Given the description of an element on the screen output the (x, y) to click on. 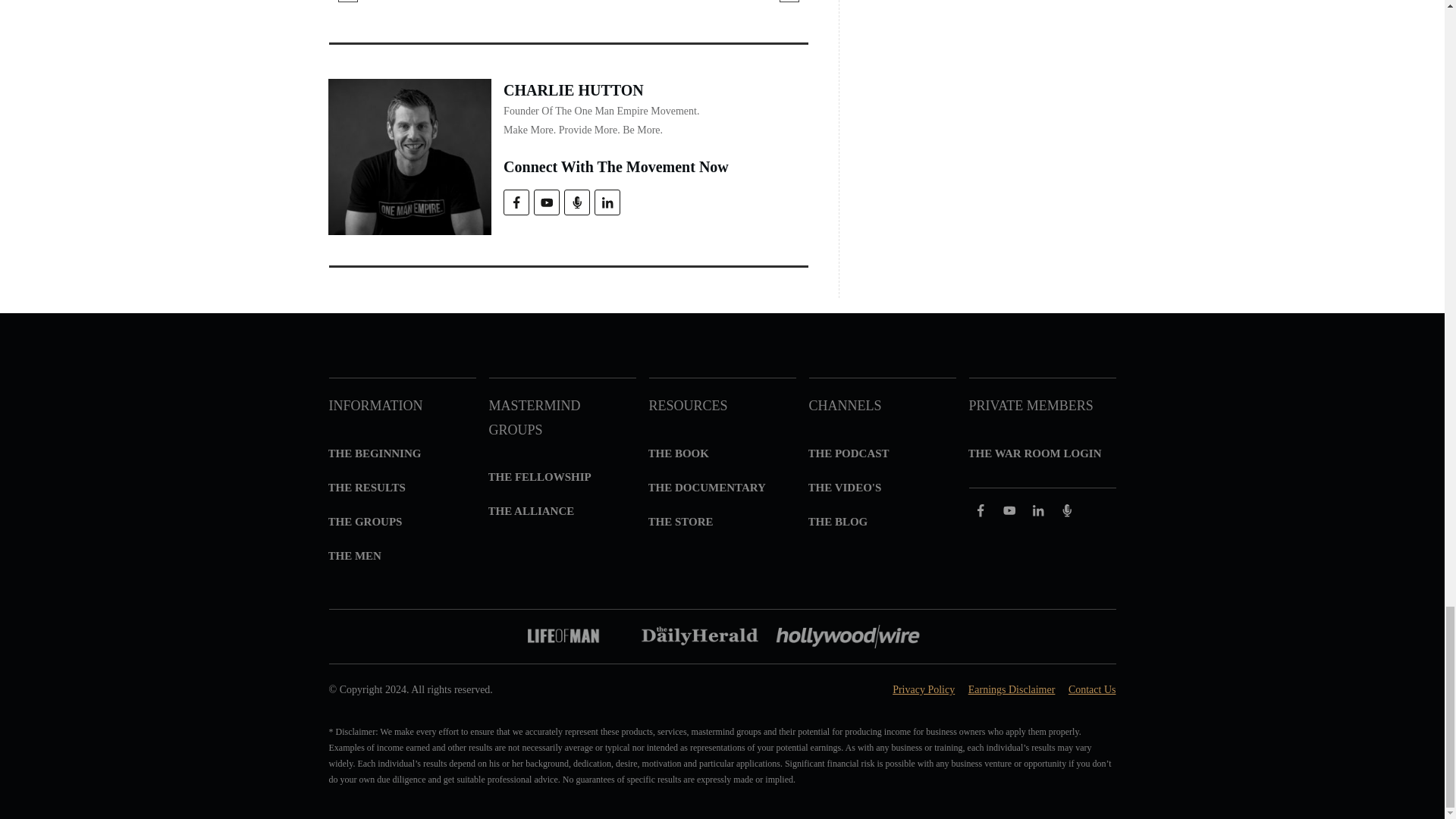
PREVIOUS (389, 5)
THE DOCUMENTARY (706, 486)
THE BOOK (677, 453)
THE PODCAST (848, 453)
NEXT (751, 5)
THE RESULTS (365, 486)
ome-credibility (722, 636)
THE ALLIANCE (531, 510)
THE VIDEO'S (845, 486)
Charlie-Hutton-Blog (409, 156)
